Given the description of an element on the screen output the (x, y) to click on. 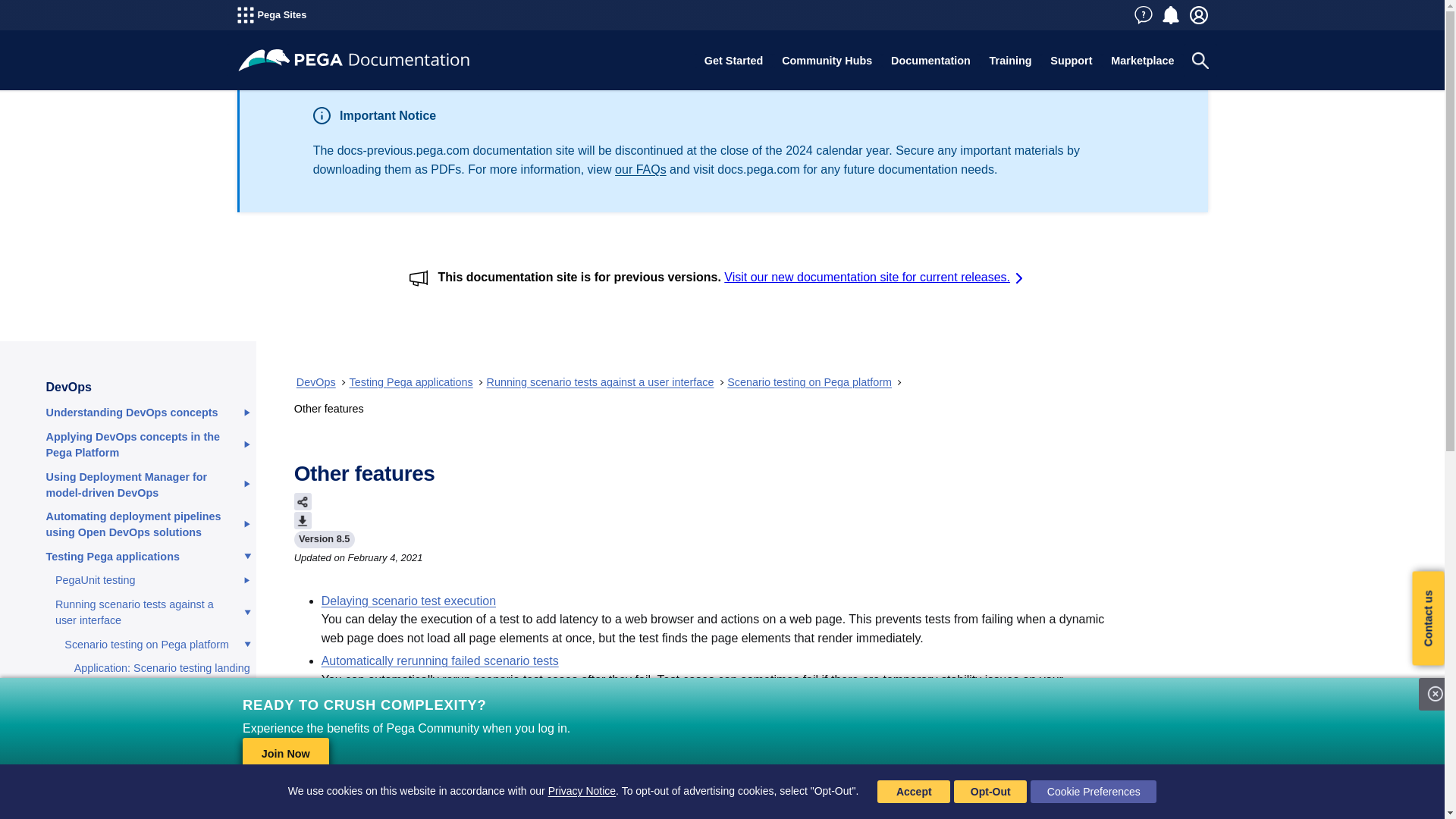
Get Started (732, 60)
Community Hubs (827, 60)
Toggle Search Panel (1200, 60)
